Given the description of an element on the screen output the (x, y) to click on. 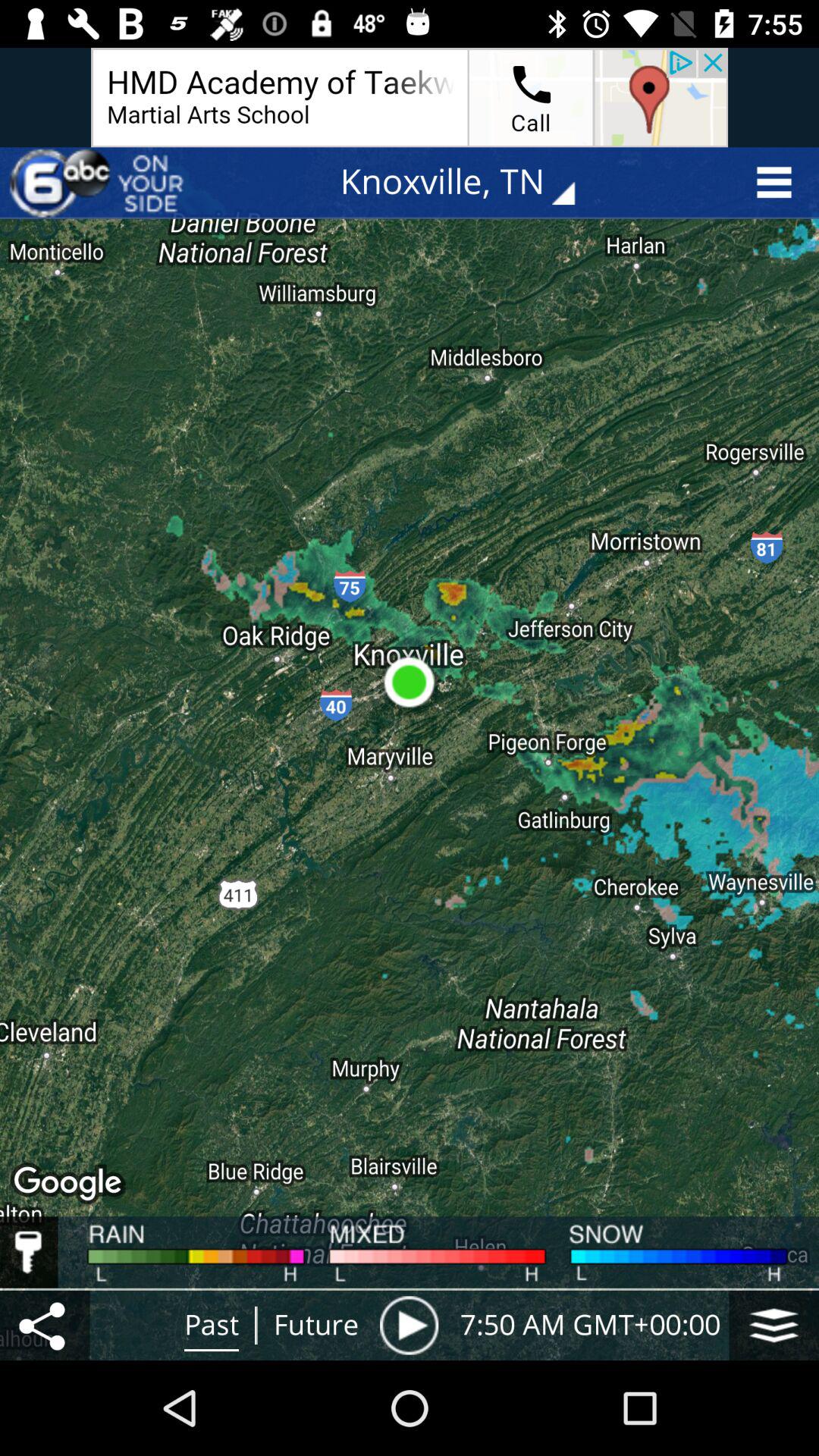
turn off icon to the left of the 7 50 am (409, 1325)
